Given the description of an element on the screen output the (x, y) to click on. 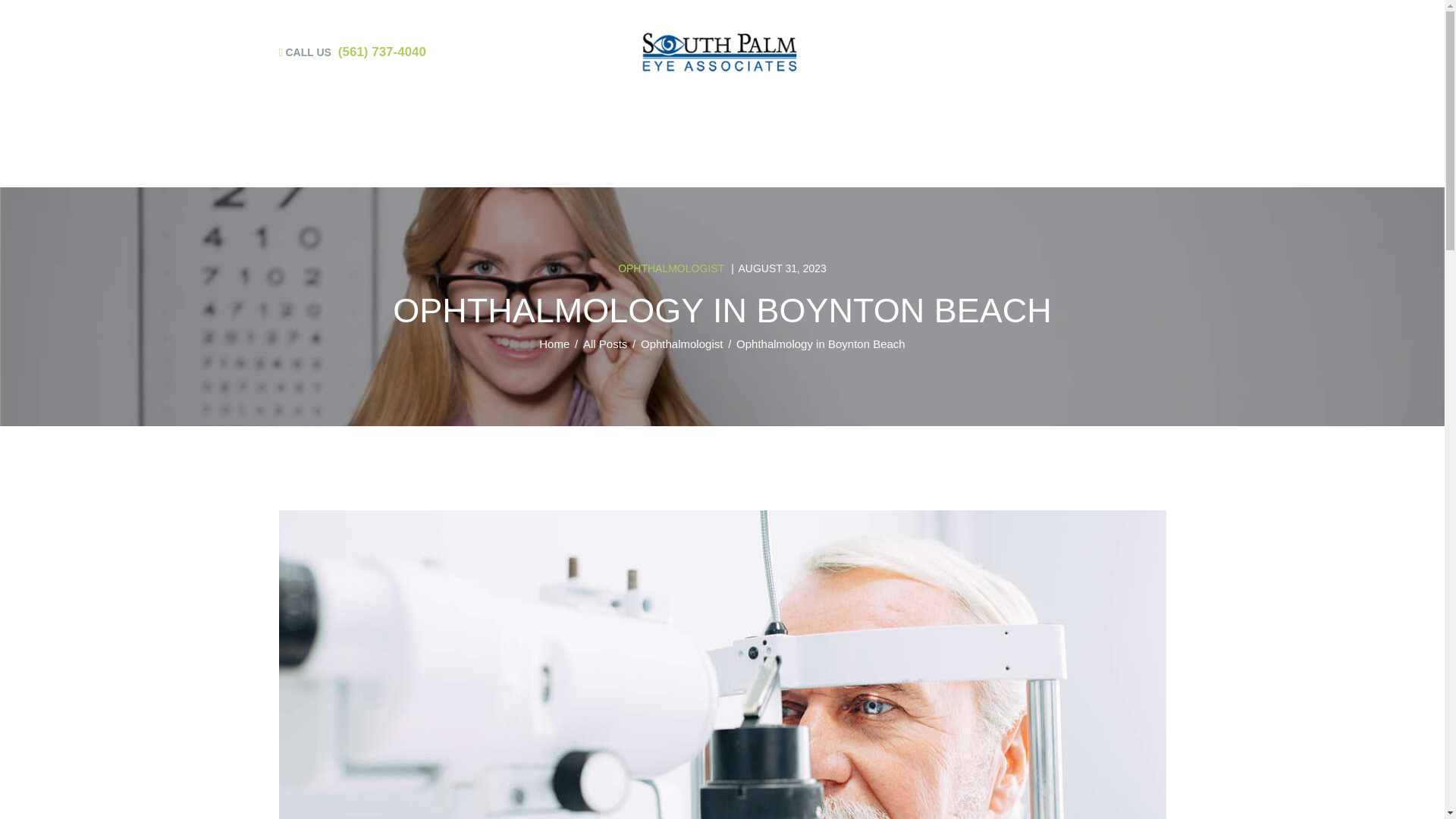
Home (553, 343)
Ophthalmologist (681, 343)
OPHTHALMOLOGIST (670, 268)
AUGUST 31, 2023 (782, 268)
All Posts (605, 343)
